Given the description of an element on the screen output the (x, y) to click on. 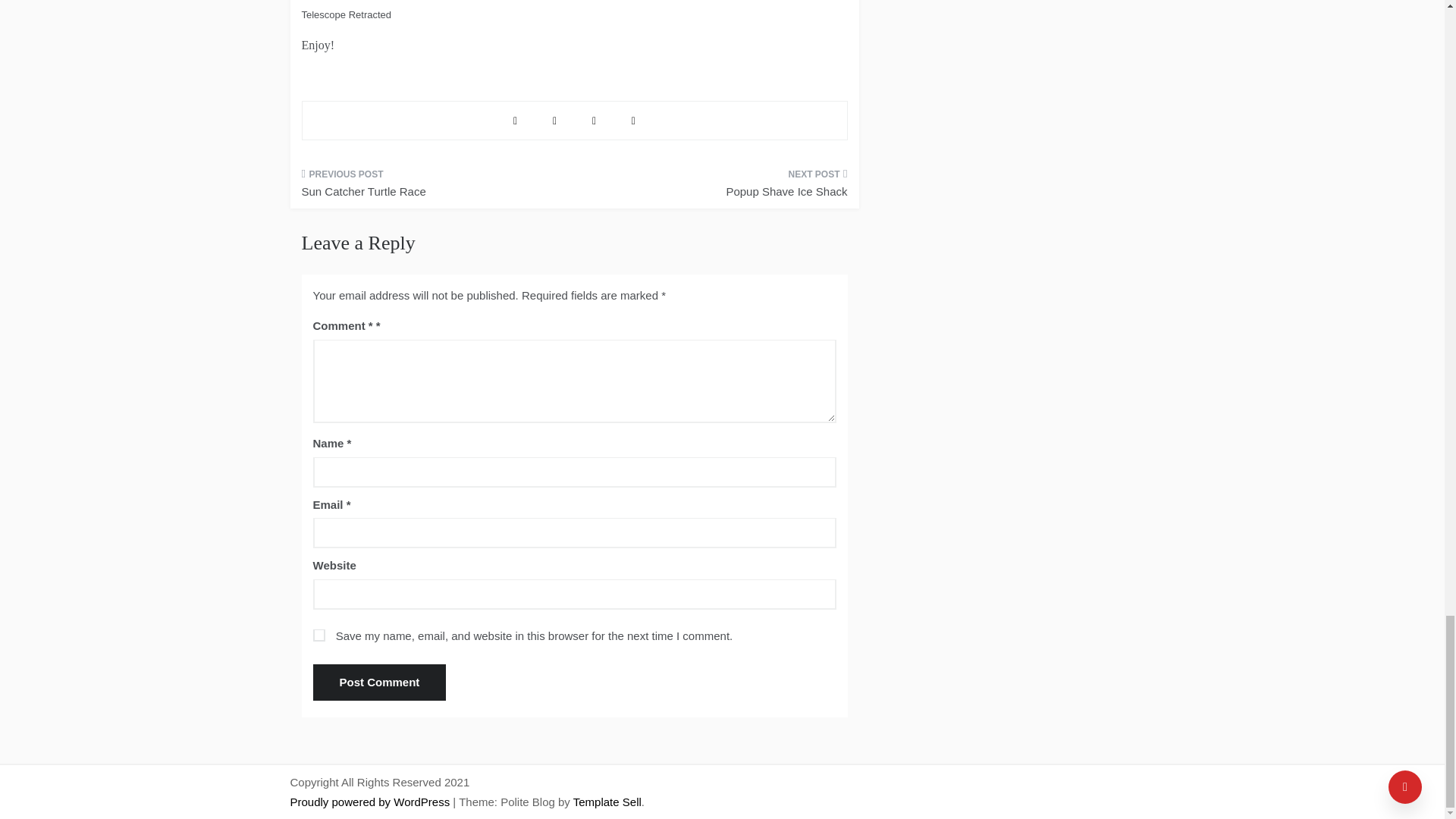
yes (318, 635)
Sun Catcher Turtle Race (432, 188)
Post Comment (379, 682)
Popup Shave Ice Shack (716, 188)
Template Sell (607, 801)
Post Comment (379, 682)
Proudly powered by WordPress (370, 801)
